Given the description of an element on the screen output the (x, y) to click on. 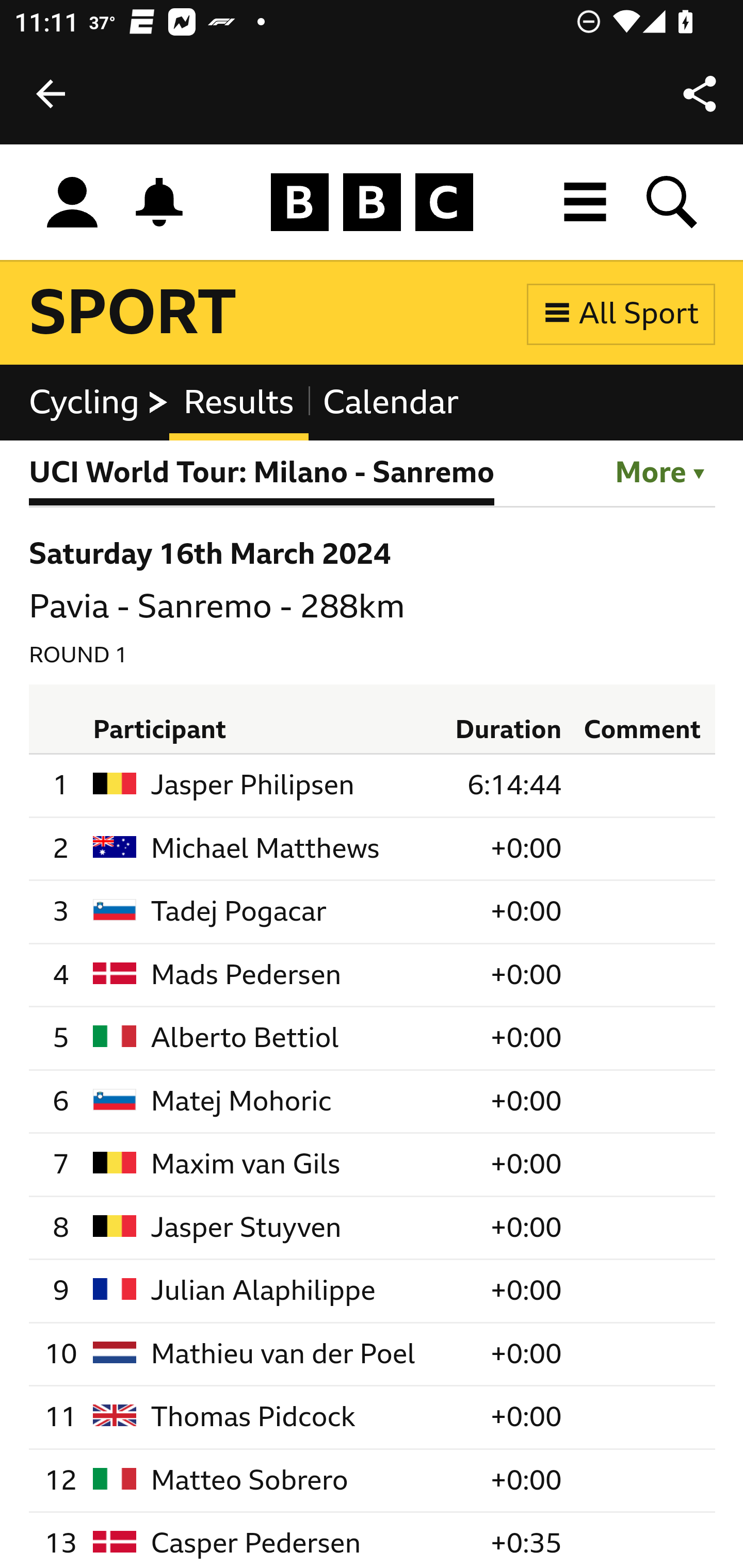
Back (50, 93)
Share (699, 93)
Notifications (159, 202)
All BBC destinations menu (585, 202)
Search BBC (672, 202)
Sign in (71, 203)
Homepage (371, 203)
BBC SPORT BBC SPORT (133, 313)
 All Sport (620, 314)
Cycling  (98, 402)
Results (237, 402)
Calendar (389, 402)
